Given the description of an element on the screen output the (x, y) to click on. 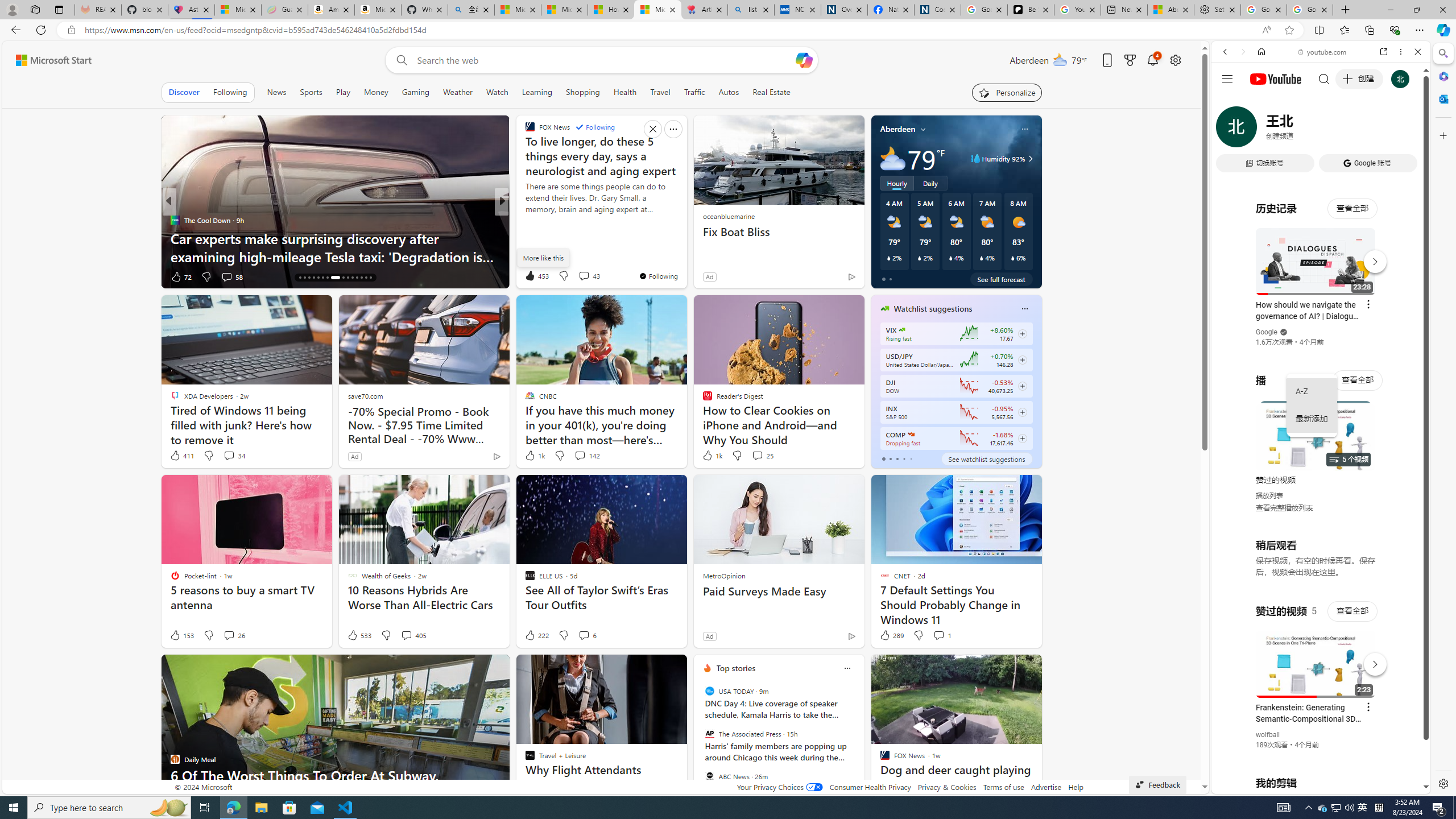
AutomationID: tab-19 (313, 277)
10 Things Scientists Can't Explain and Attribute to God (684, 247)
View comments 6 Comment (587, 634)
AutomationID: tab-28 (361, 277)
AutomationID: tab-26 (352, 277)
